Given the description of an element on the screen output the (x, y) to click on. 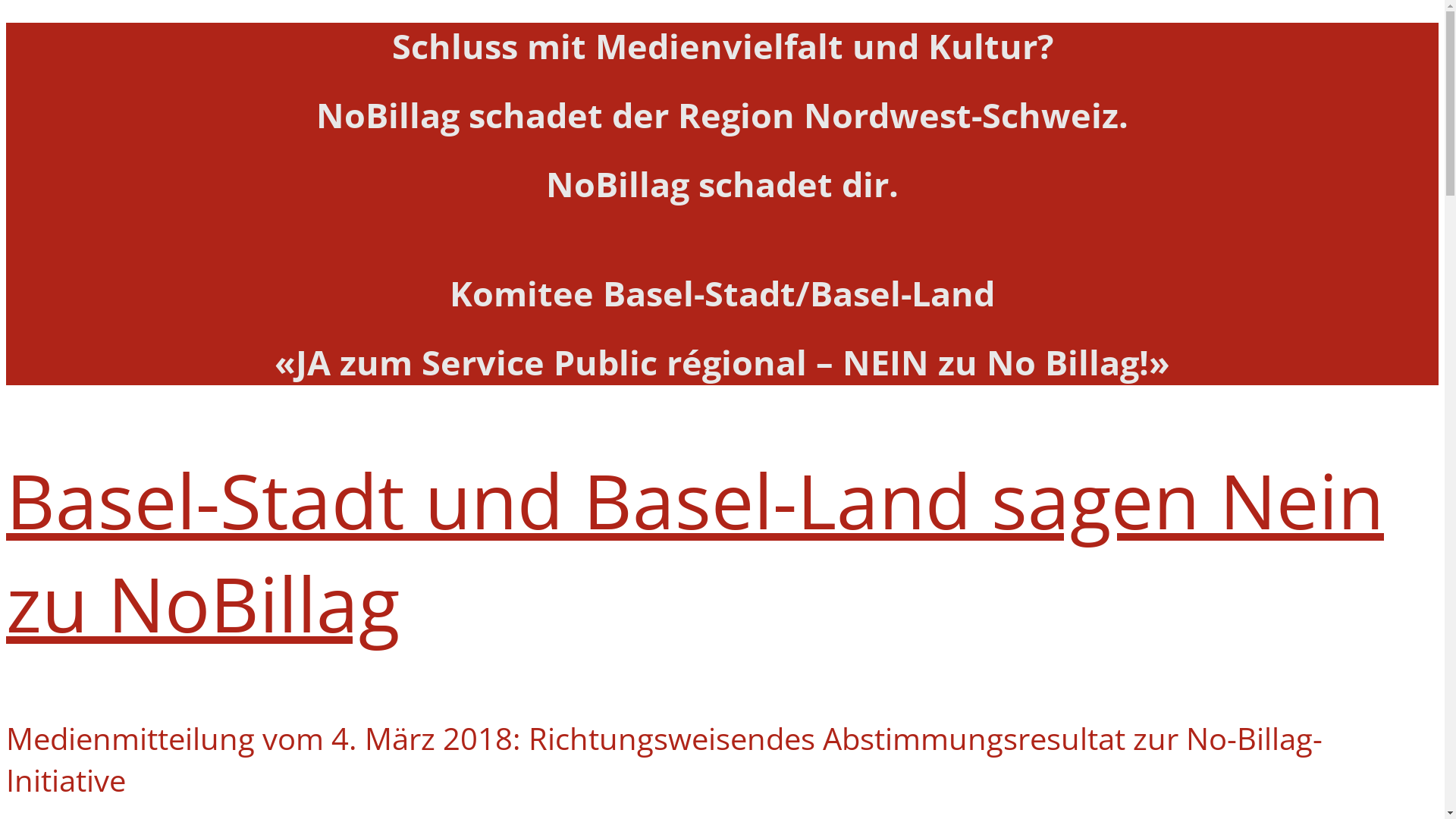
Basel-Stadt und Basel-Land sagen Nein zu NoBillag Element type: text (694, 551)
